Given the description of an element on the screen output the (x, y) to click on. 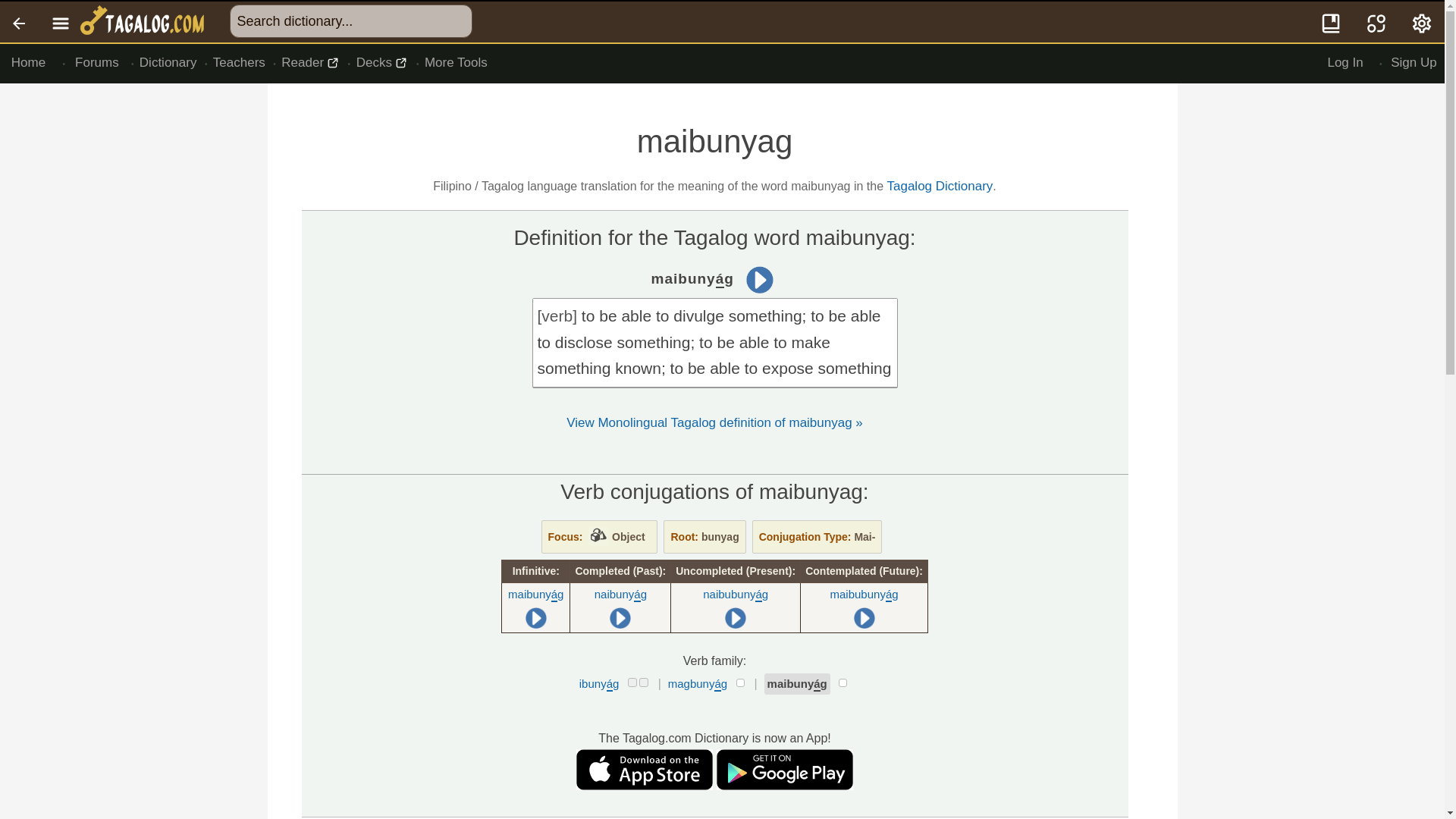
Forums (96, 62)
Root: bunyag (704, 536)
More Tools (455, 62)
My Account (1422, 21)
Dictionary (167, 62)
Log In (1345, 62)
Reader (310, 62)
Decks (381, 62)
Back Link (19, 21)
Tagalog Dictionary (939, 186)
Translate To English (1376, 21)
Teachers (239, 62)
Home (28, 62)
Tagalog Logo (144, 21)
Sign Up (1414, 62)
